Given the description of an element on the screen output the (x, y) to click on. 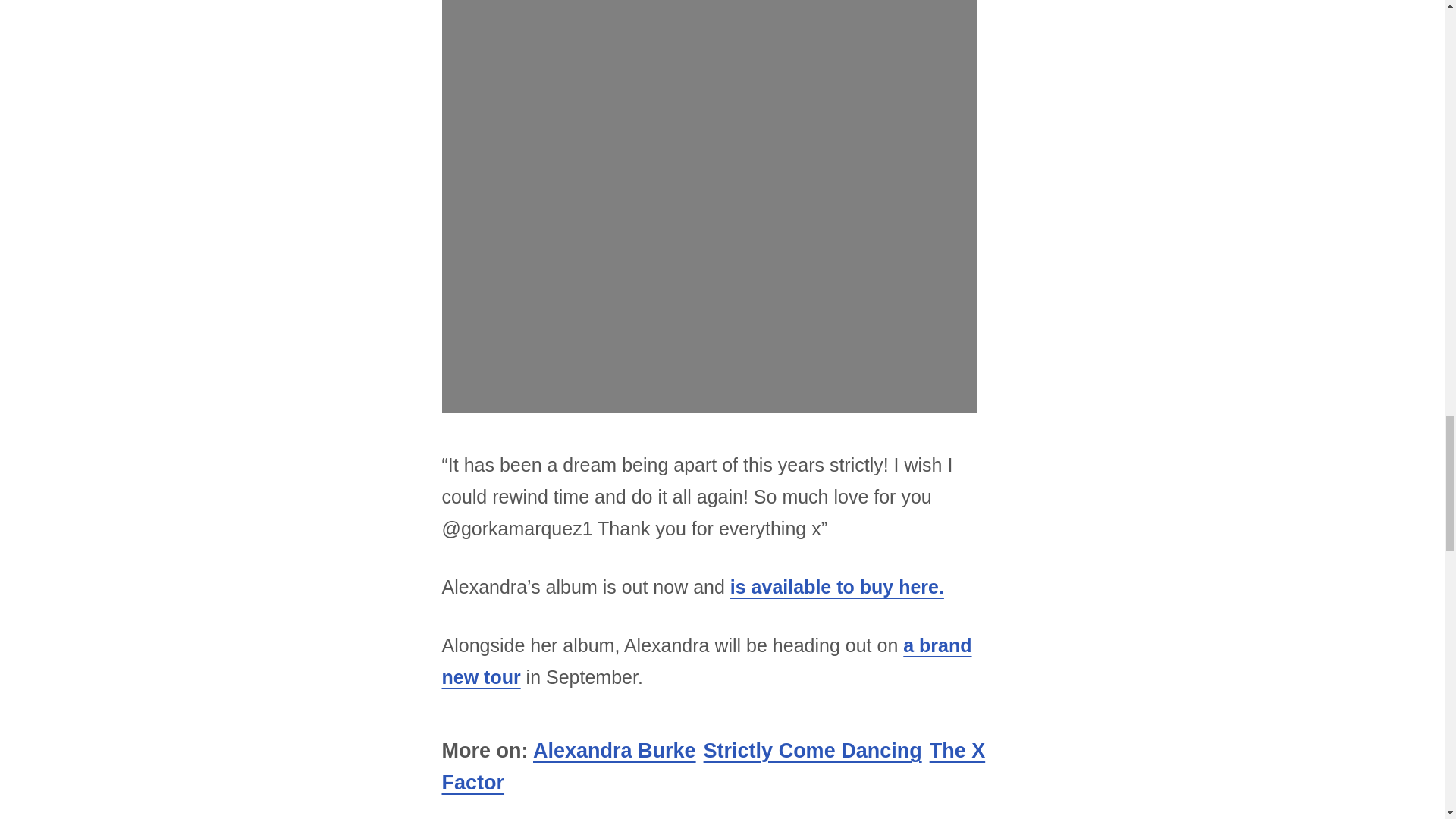
Alexandra Burke (613, 750)
is available to buy here. (836, 586)
The X Factor (713, 766)
a brand new tour (706, 660)
Strictly Come Dancing (812, 750)
